Given the description of an element on the screen output the (x, y) to click on. 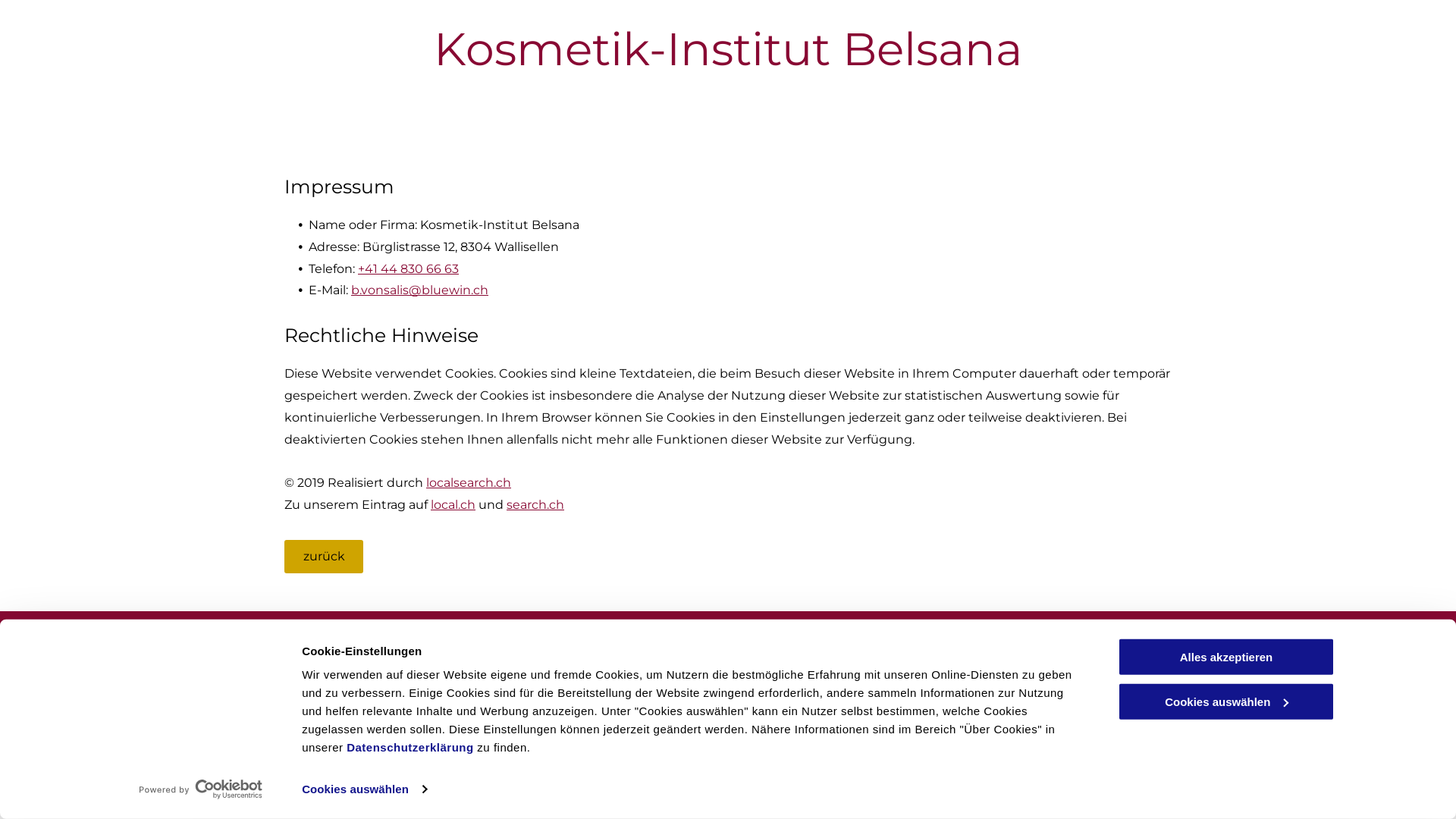
b.vonsalis@bluewin.ch Element type: text (585, 716)
+41 44 830 66 63 Element type: text (567, 677)
localsearch.ch Element type: text (468, 482)
b.vonsalis@bluewin.ch Element type: text (419, 289)
+41 44 830 66 63 Element type: text (407, 268)
Kosmetik-Institut Belsana Element type: text (727, 48)
local.ch Element type: text (452, 504)
Impressum Element type: text (1070, 657)
Alles akzeptieren Element type: text (1225, 656)
search.ch Element type: text (535, 504)
